Given the description of an element on the screen output the (x, y) to click on. 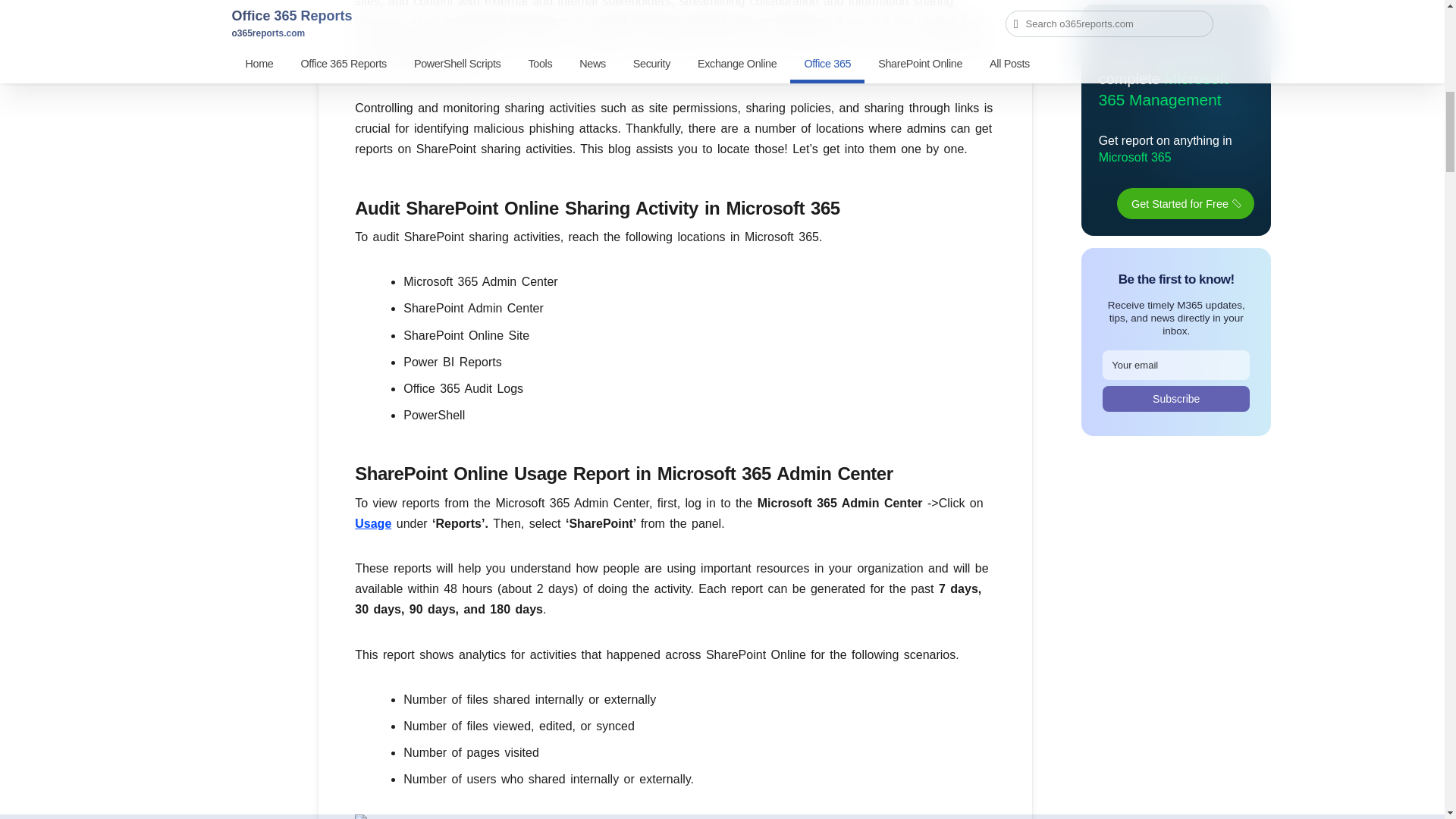
Usage (373, 522)
